Given the description of an element on the screen output the (x, y) to click on. 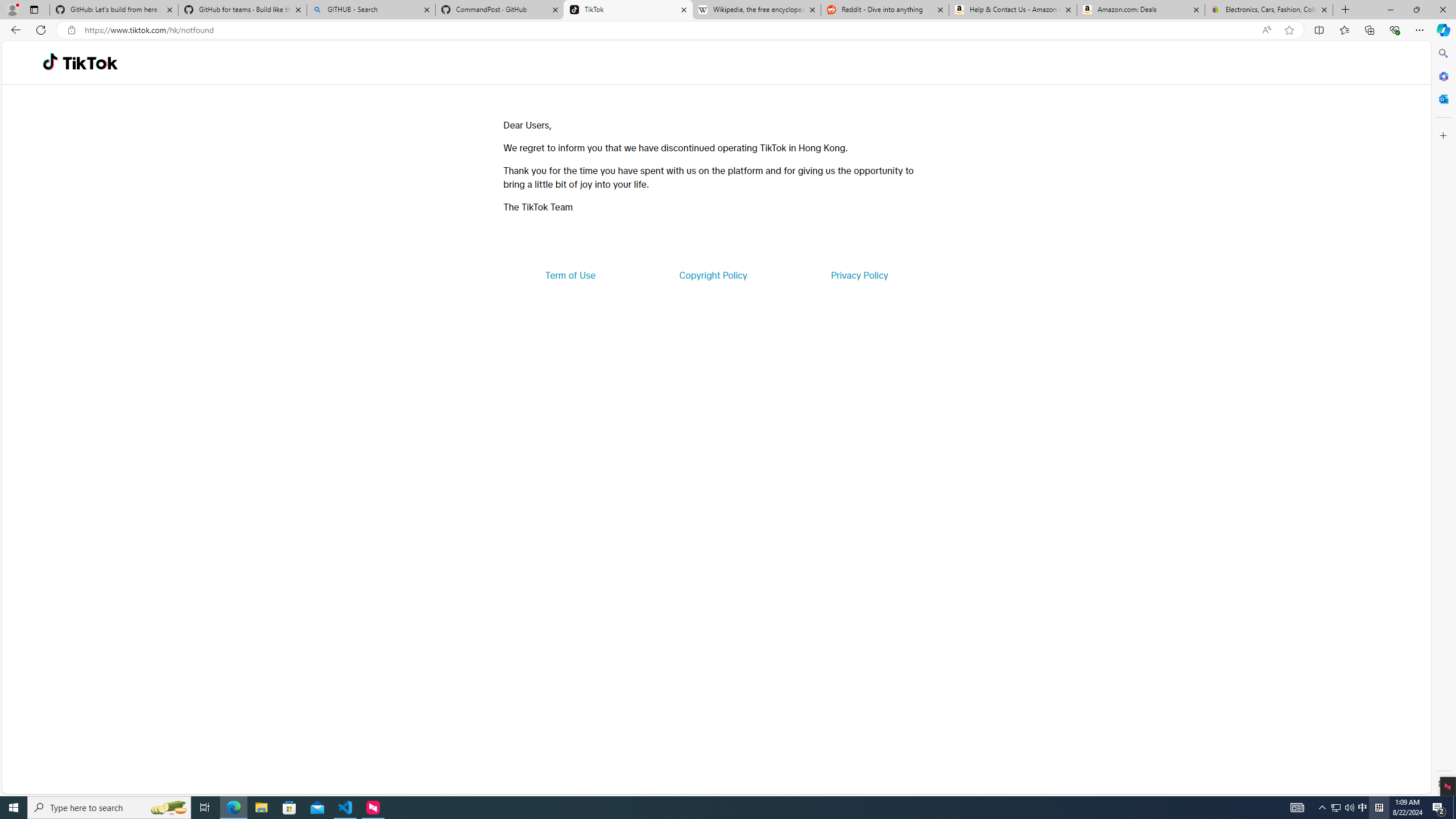
Privacy Policy (858, 274)
Amazon.com: Deals (1140, 9)
